Given the description of an element on the screen output the (x, y) to click on. 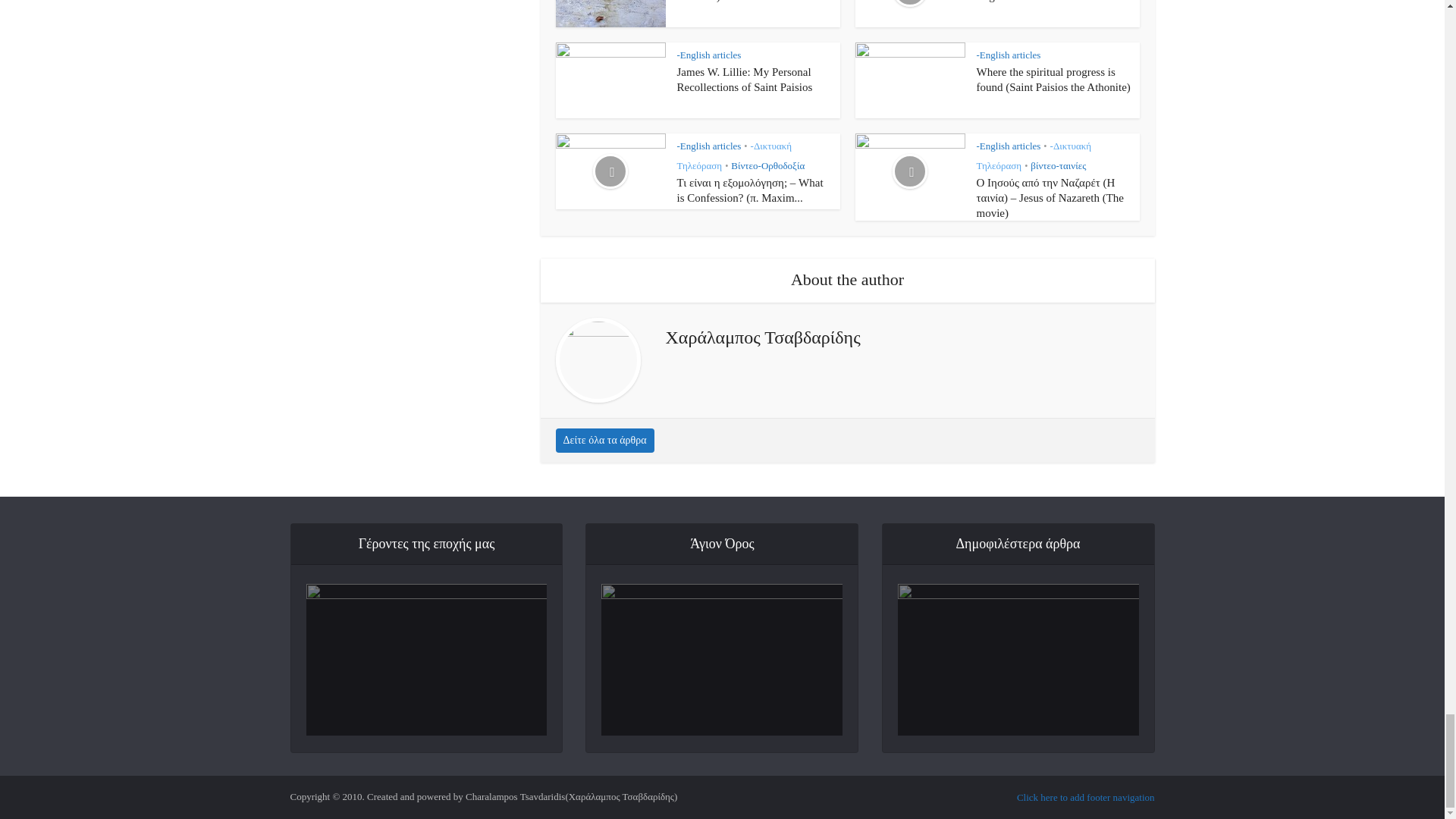
How Did Greek Influence English? (1035, 1)
James W. Lillie: My Personal Recollections of Saint Paisios (744, 79)
